Given the description of an element on the screen output the (x, y) to click on. 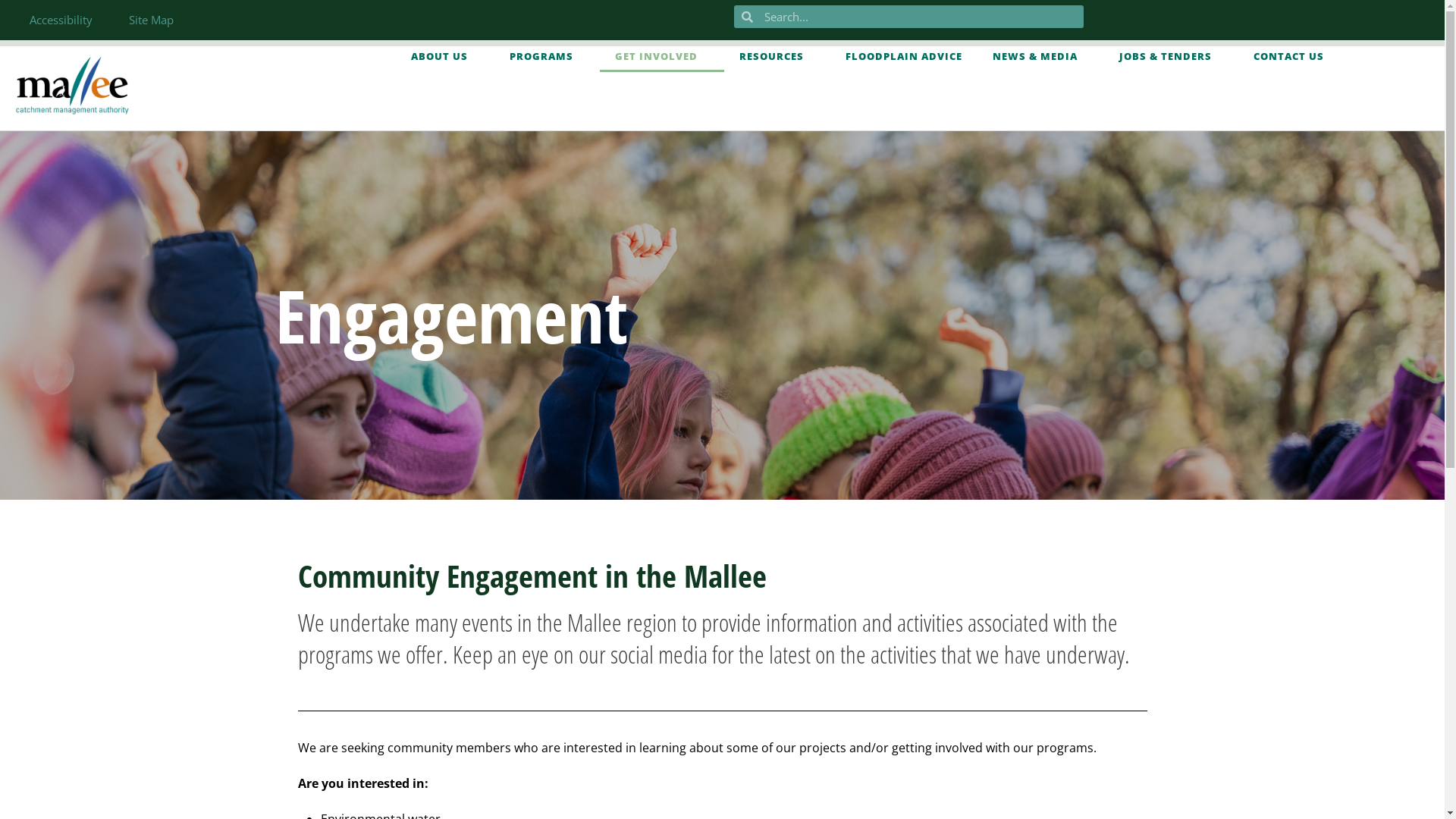
JOBS & TENDERS Element type: text (1171, 56)
Search Element type: hover (919, 16)
CONTACT US Element type: text (1288, 56)
GET INVOLVED Element type: text (661, 56)
Site Map Element type: text (150, 19)
FLOODPLAIN ADVICE Element type: text (903, 56)
Accessibility Element type: text (60, 19)
PROGRAMS Element type: text (546, 56)
RESOURCES Element type: text (777, 56)
NEWS & MEDIA Element type: text (1040, 56)
ABOUT US Element type: text (444, 56)
